Given the description of an element on the screen output the (x, y) to click on. 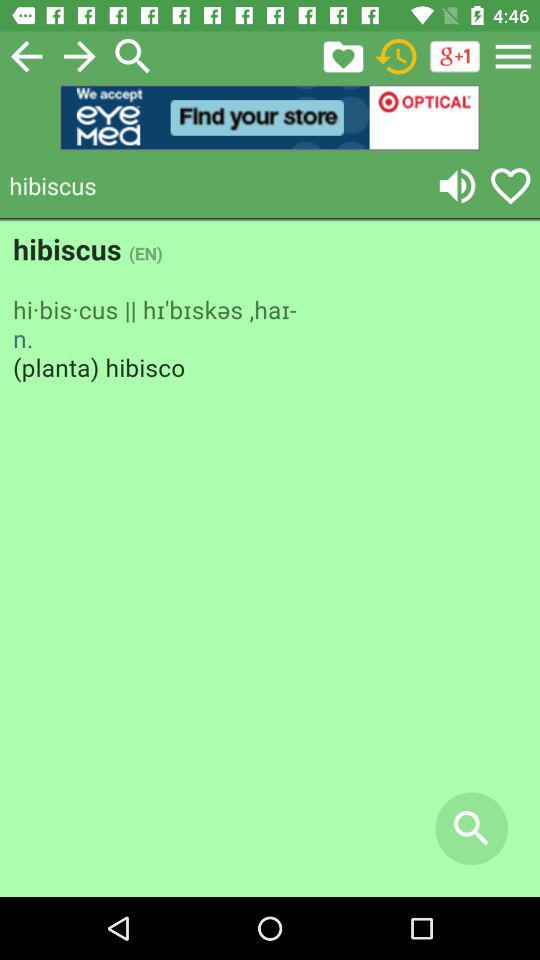
go next (79, 56)
